Given the description of an element on the screen output the (x, y) to click on. 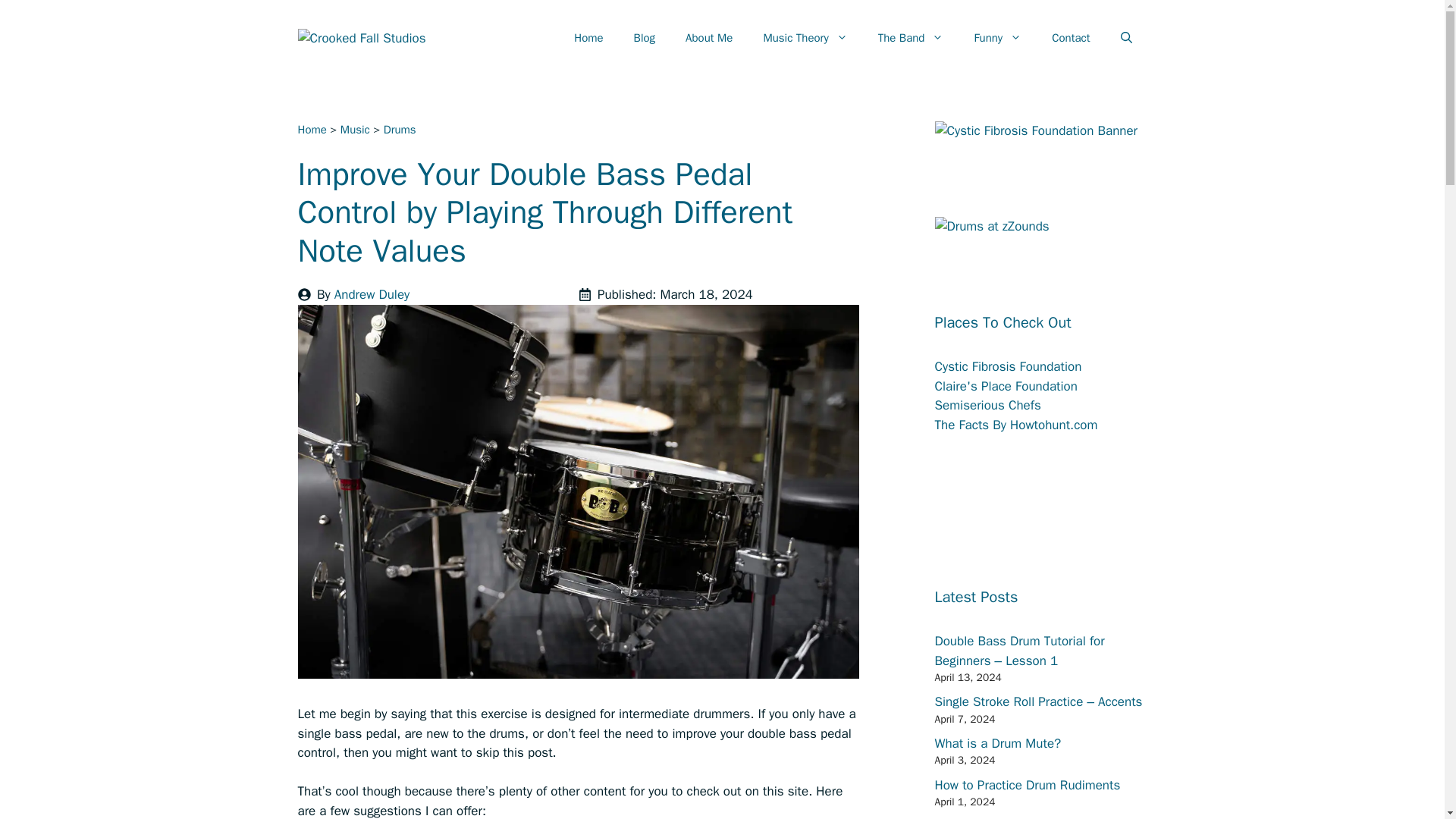
Home (311, 129)
Funny (997, 37)
Contact (1070, 37)
Blog (643, 37)
Music (354, 129)
Music Theory (804, 37)
About Me (708, 37)
Andrew Duley (371, 294)
The Band (911, 37)
Drums (400, 129)
